Given the description of an element on the screen output the (x, y) to click on. 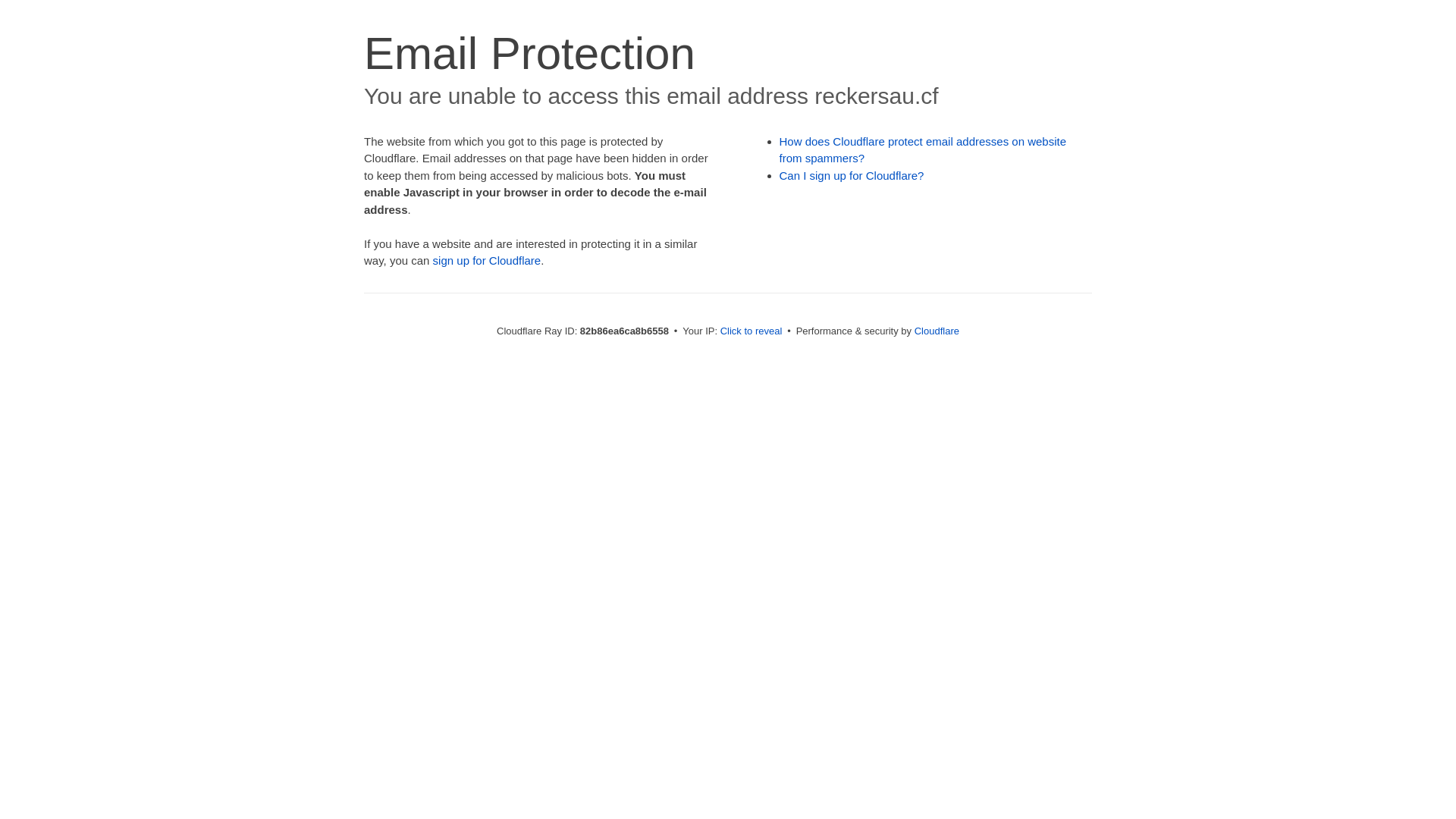
Click to reveal Element type: text (751, 330)
Cloudflare Element type: text (936, 330)
sign up for Cloudflare Element type: text (487, 260)
Can I sign up for Cloudflare? Element type: text (851, 175)
